Given the description of an element on the screen output the (x, y) to click on. 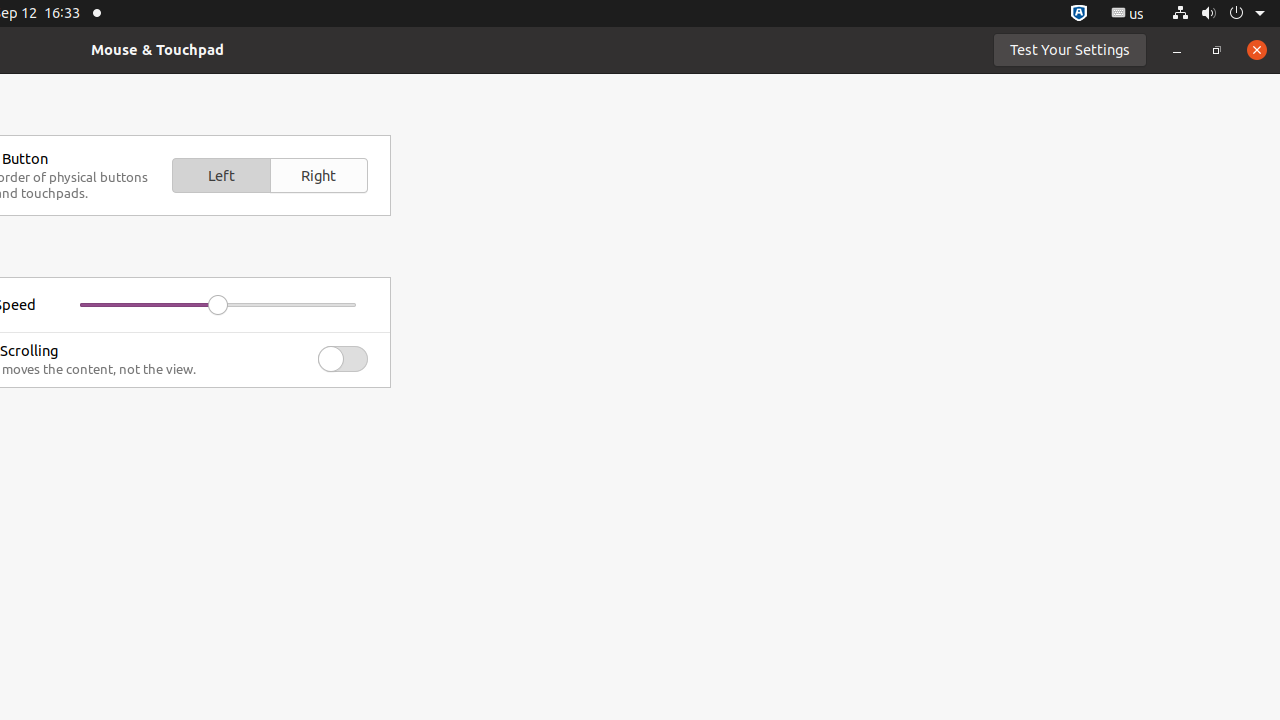
Close Element type: push-button (1257, 50)
Minimize Element type: push-button (1177, 50)
Right Element type: radio-button (319, 175)
Restore Element type: push-button (1217, 50)
